Given the description of an element on the screen output the (x, y) to click on. 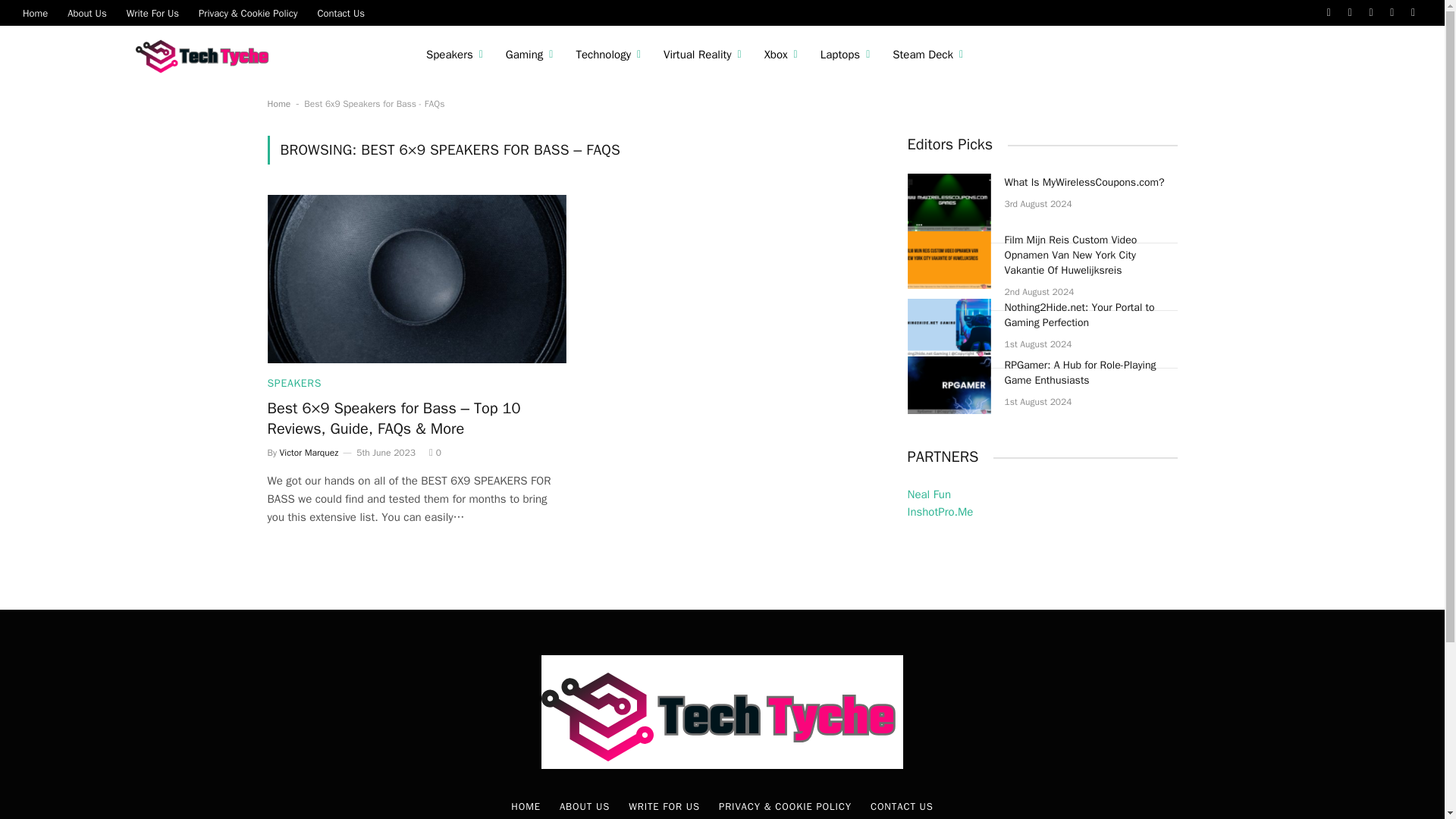
Gaming (529, 54)
Contact Us (340, 12)
Techtyche (205, 54)
Nothing2Hide.net: Your Portal to Gaming Perfection (948, 327)
Home (35, 12)
What Is MyWirelessCoupons.com? (948, 201)
Speakers (454, 54)
Write For Us (152, 12)
Posts by Victor Marquez (309, 452)
About Us (87, 12)
RPGamer: A Hub for Role-Playing Game Enthusiasts (948, 385)
